Given the description of an element on the screen output the (x, y) to click on. 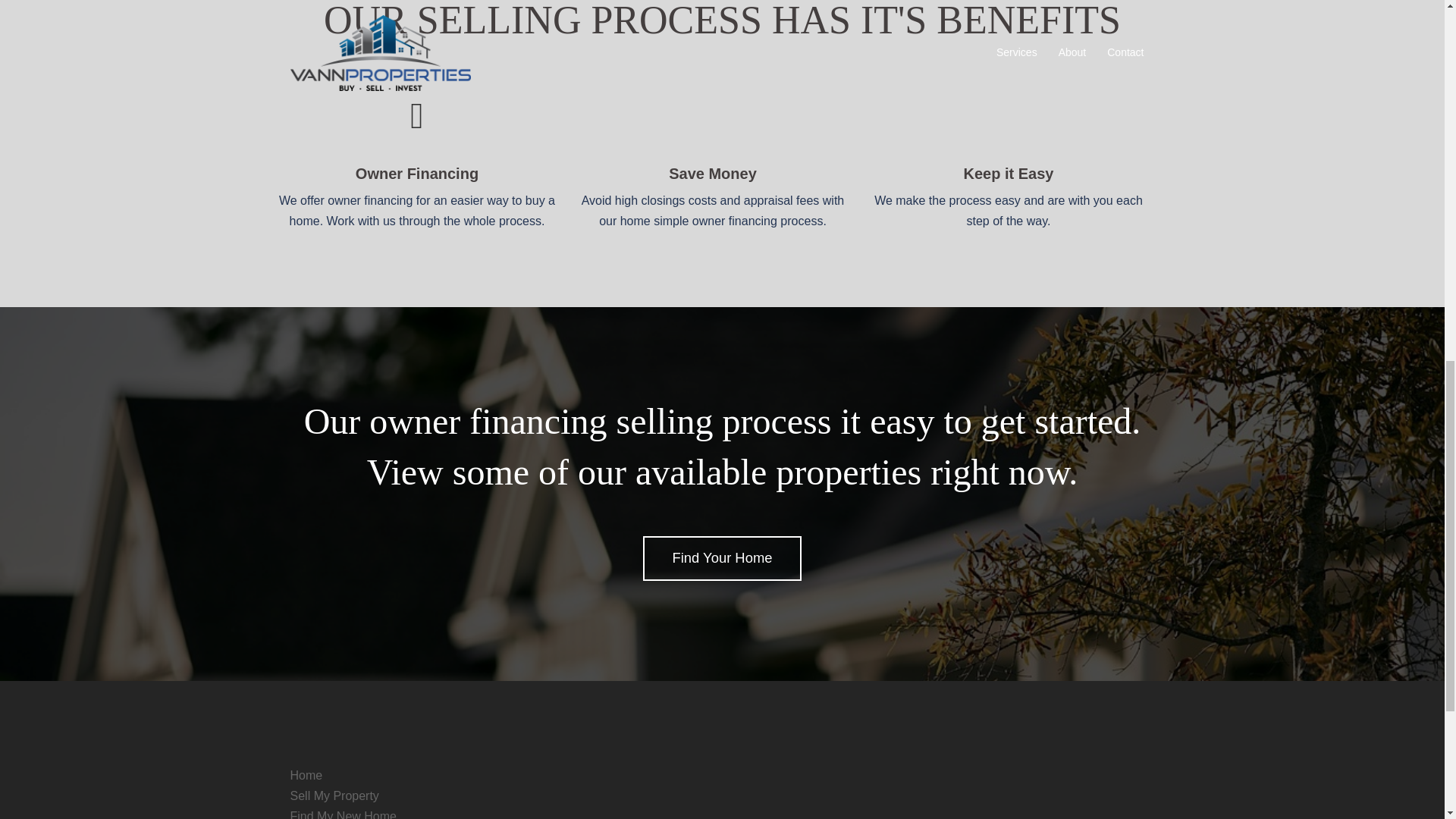
Find My New Home (342, 814)
Home (305, 775)
Find Your Home (722, 558)
Sell My Property (333, 795)
